Given the description of an element on the screen output the (x, y) to click on. 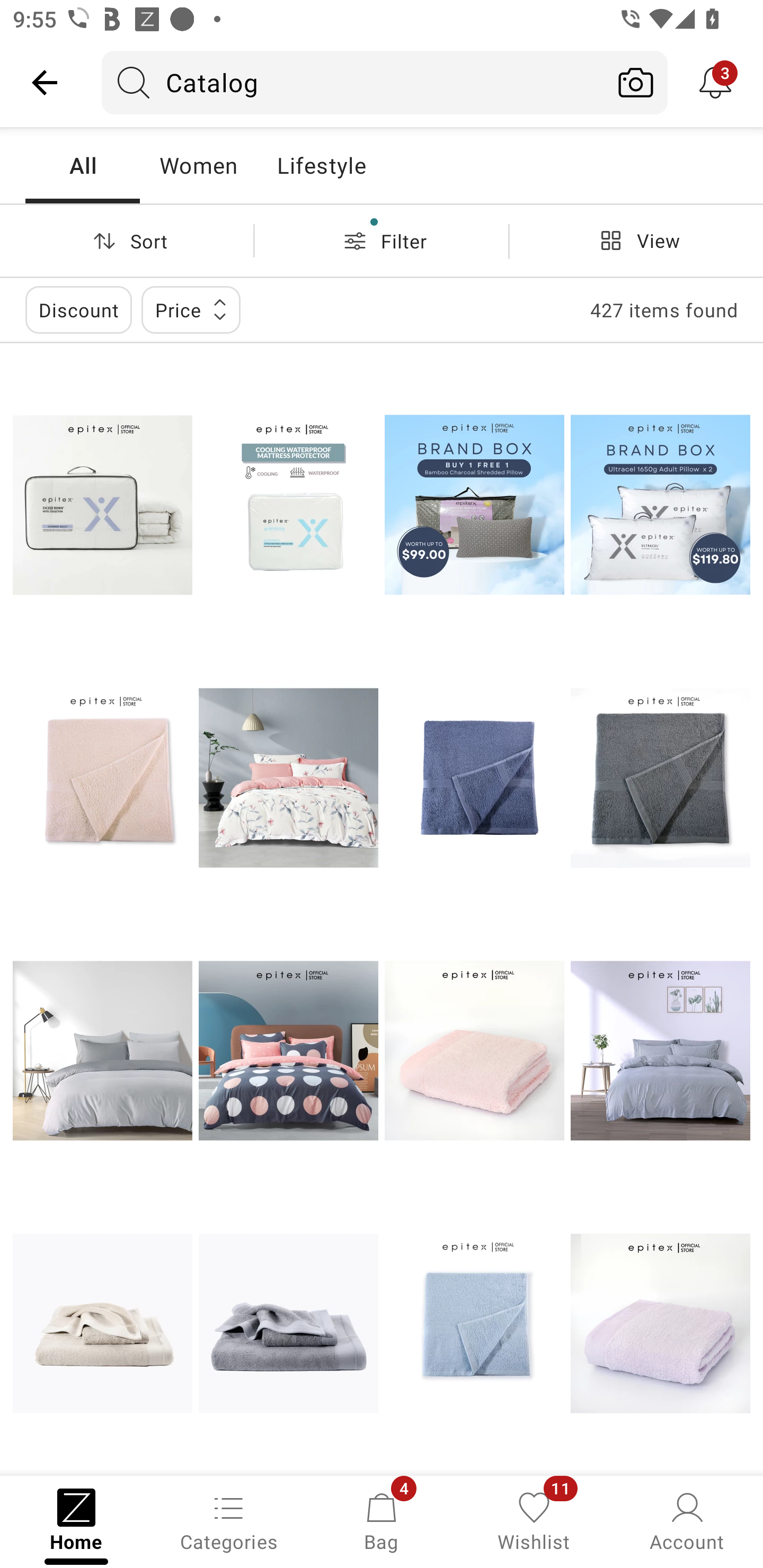
Navigate up (44, 82)
Catalog (352, 82)
Women (198, 165)
Lifestyle (321, 165)
Sort (126, 240)
Filter (381, 240)
View (636, 240)
Discount (78, 309)
Price (190, 309)
Categories (228, 1519)
Bag, 4 new notifications Bag (381, 1519)
Wishlist, 11 new notifications Wishlist (533, 1519)
Account (686, 1519)
